Given the description of an element on the screen output the (x, y) to click on. 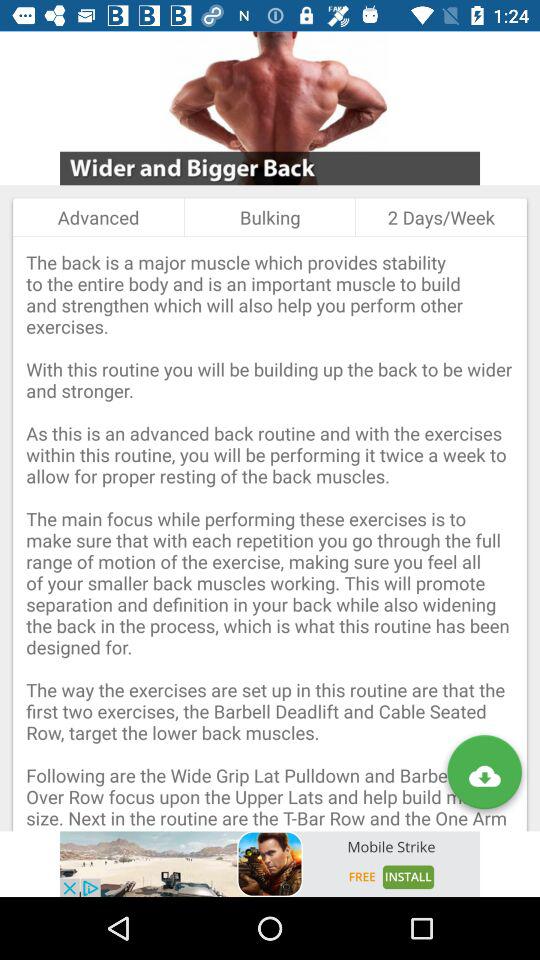
go to mobile strike advertisement website (270, 864)
